Given the description of an element on the screen output the (x, y) to click on. 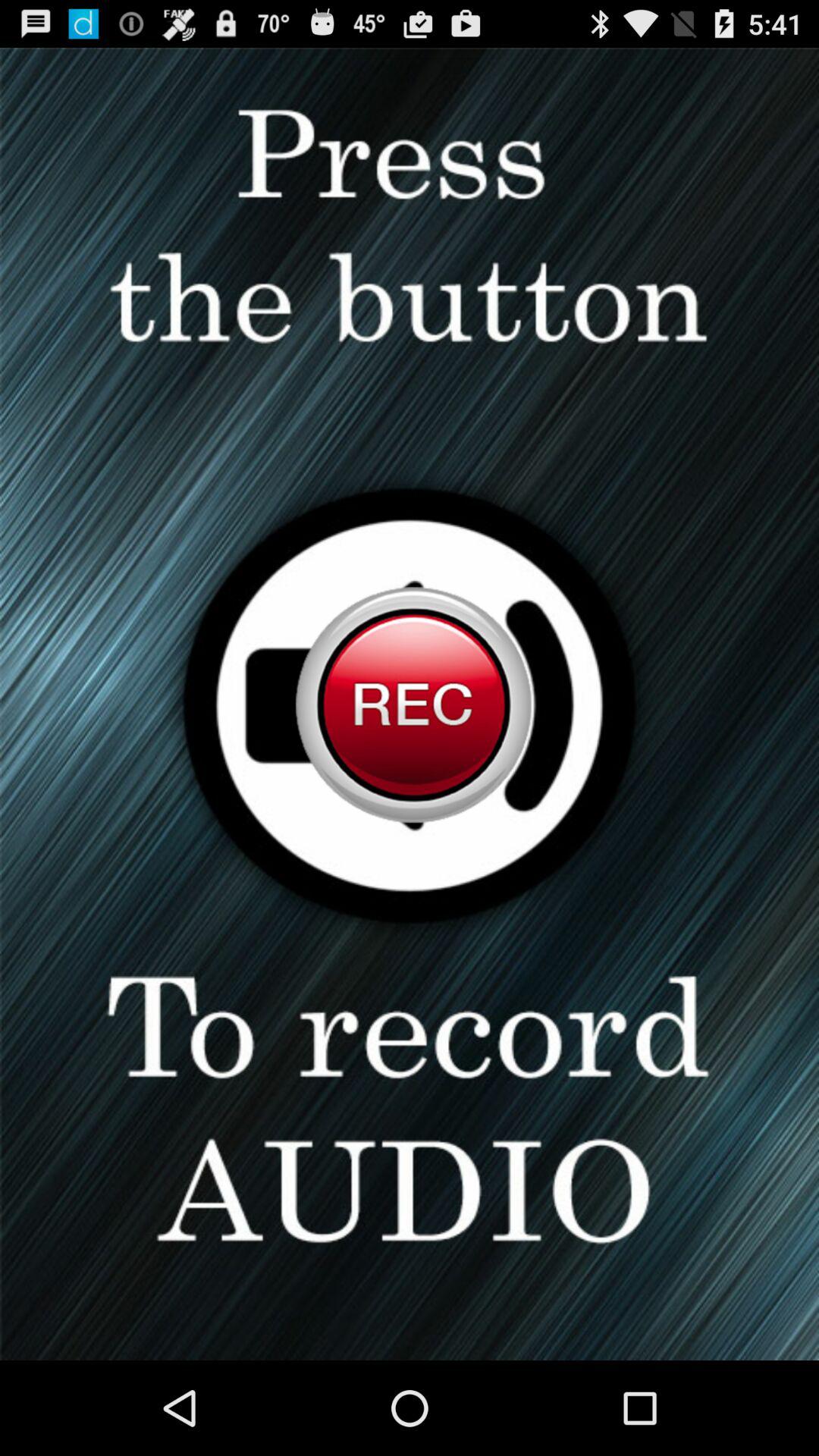
record (409, 703)
